Given the description of an element on the screen output the (x, y) to click on. 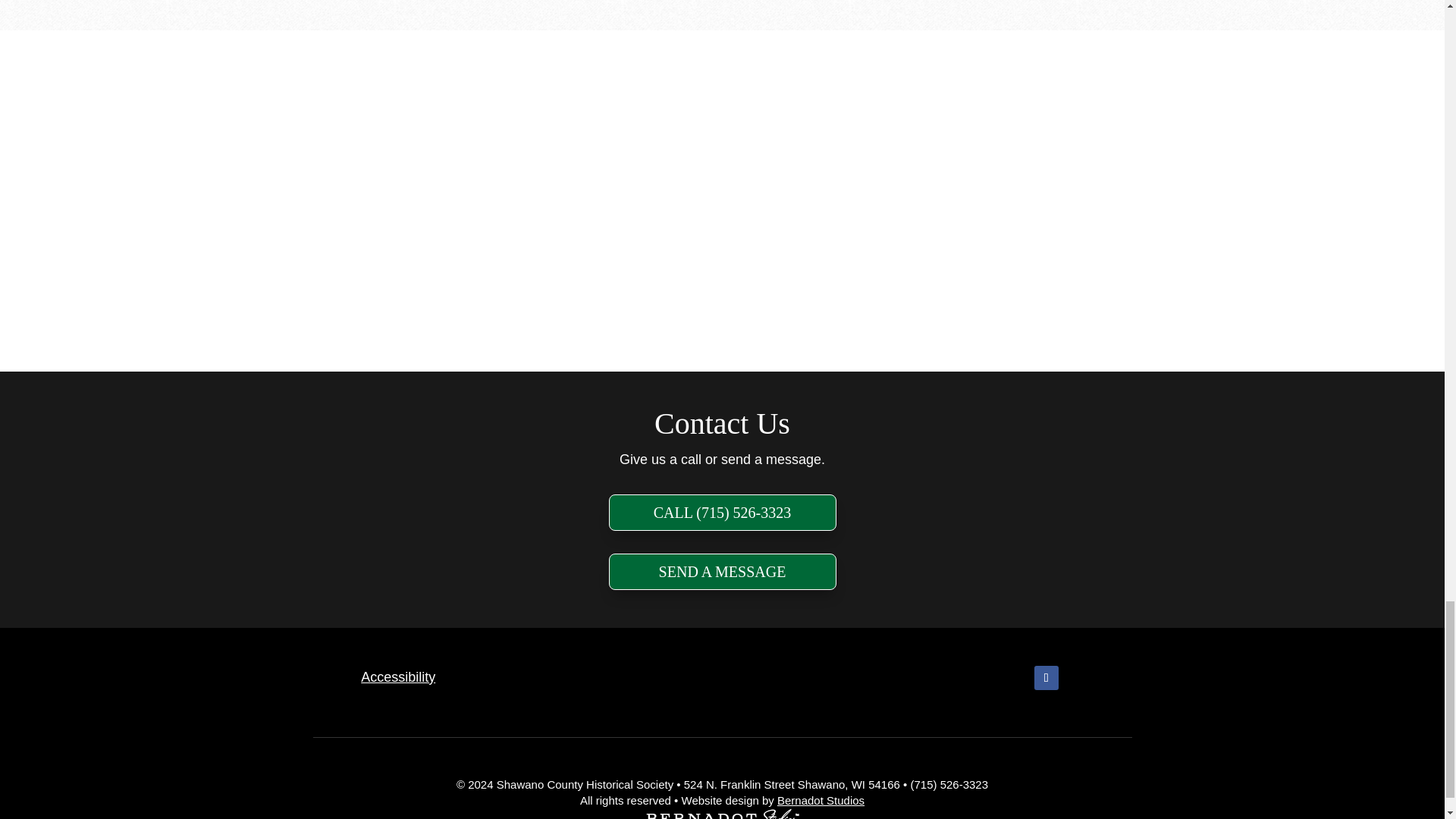
SEND A MESSAGE (721, 571)
Follow on Facebook (1045, 677)
Accessibility (398, 676)
Bernadot Studios (820, 799)
Follow (1045, 677)
